Given the description of an element on the screen output the (x, y) to click on. 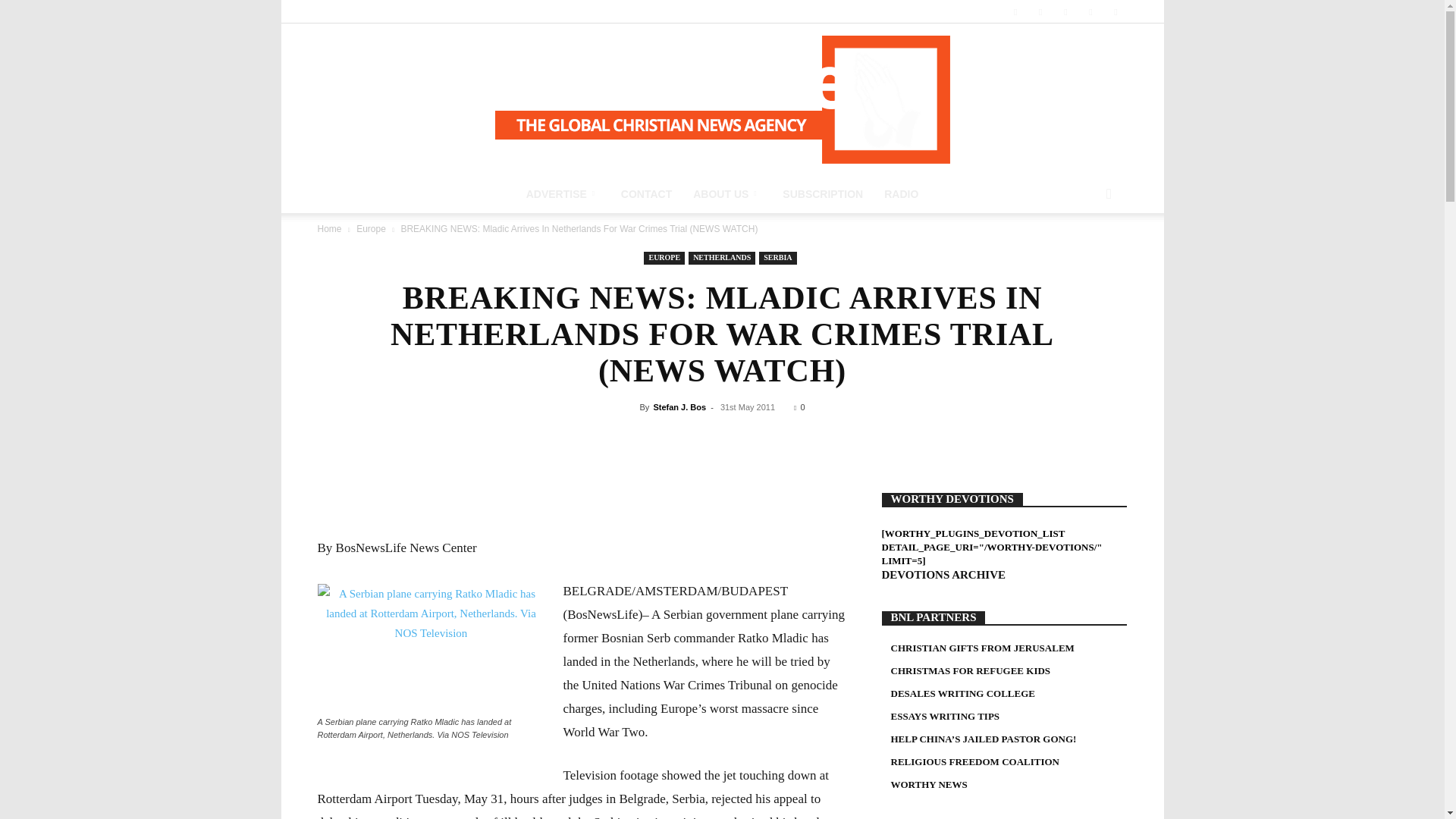
RADIO (900, 193)
Europe (370, 228)
NETHERLANDS (721, 257)
RSS (1040, 11)
ADVERTISE (562, 193)
SUBSCRIPTION (822, 193)
ABOUT US (726, 193)
CONTACT (646, 193)
EUROPE (663, 257)
